Given the description of an element on the screen output the (x, y) to click on. 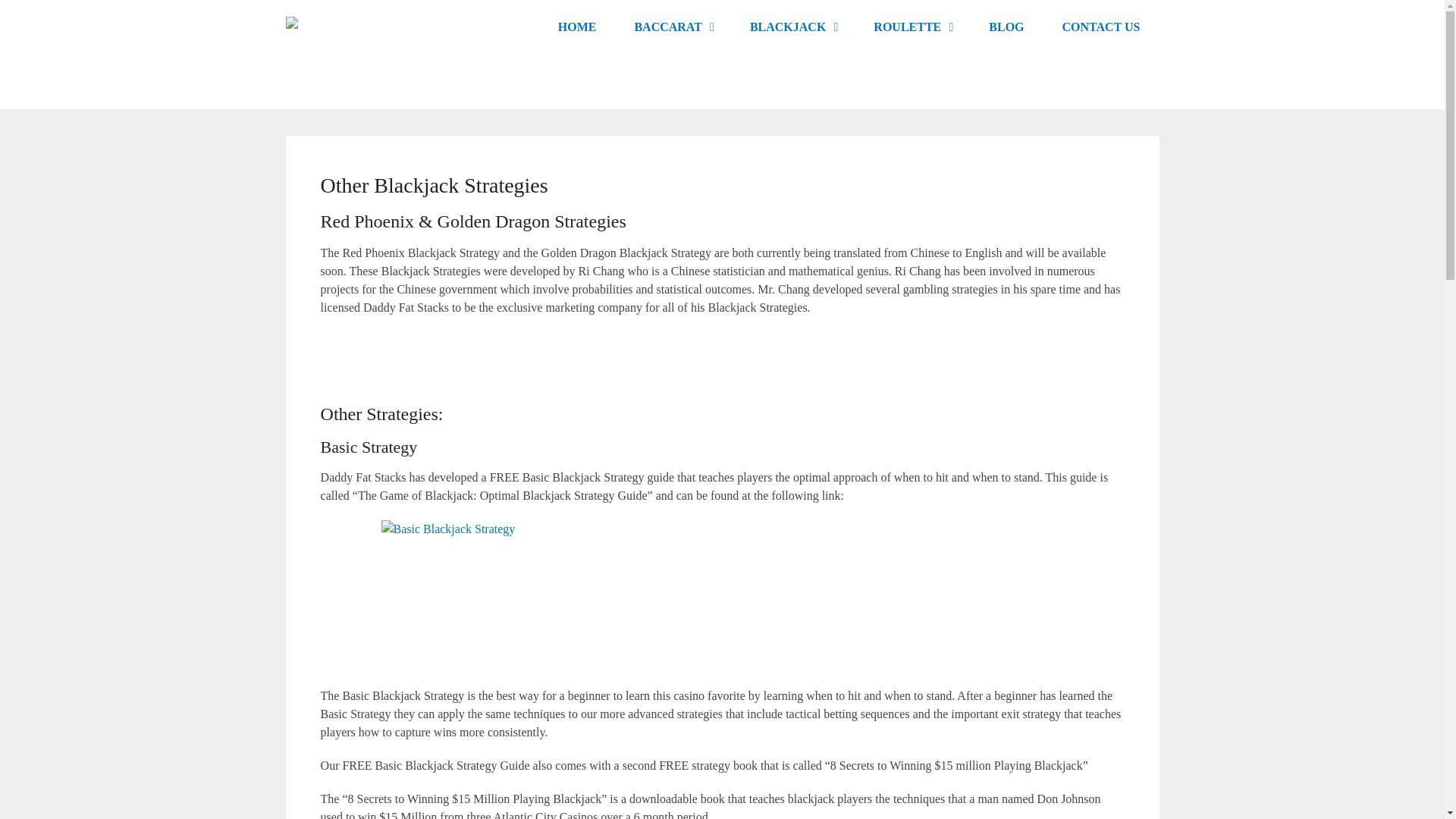
BACCARAT (672, 27)
BLOG (1005, 27)
CONTACT US (1100, 27)
BLACKJACK (792, 27)
Baccarat Strategy (672, 27)
HOME (576, 27)
Daddy Fat Stacks (576, 27)
ROULETTE (911, 27)
Blackjack Strategy (792, 27)
